Given the description of an element on the screen output the (x, y) to click on. 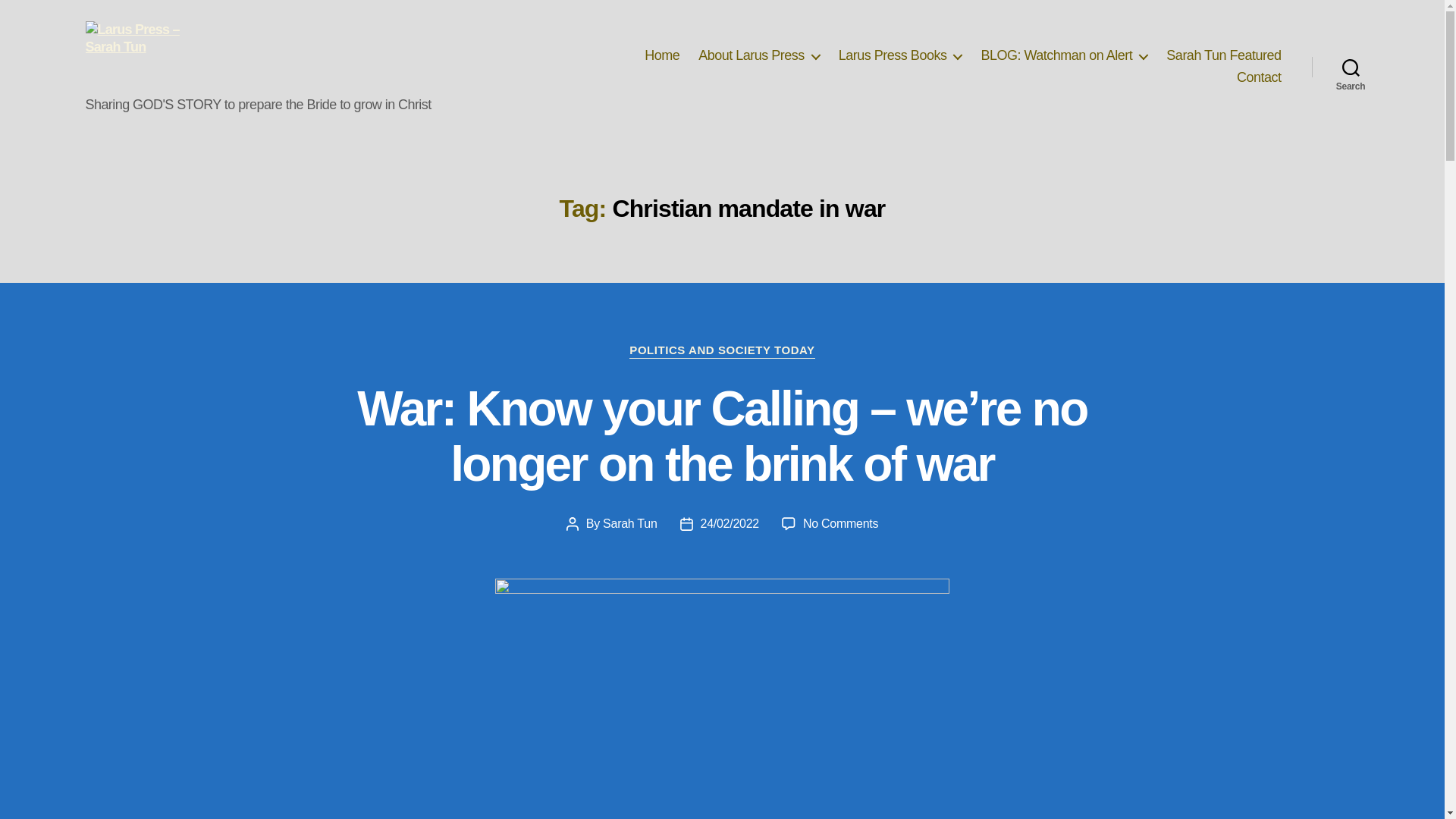
Contact (1258, 77)
Search (1350, 66)
About Larus Press (758, 55)
BLOG: Watchman on Alert (1063, 55)
Home (662, 55)
Sarah Tun Featured (1223, 55)
Larus Press Books (900, 55)
